Given the description of an element on the screen output the (x, y) to click on. 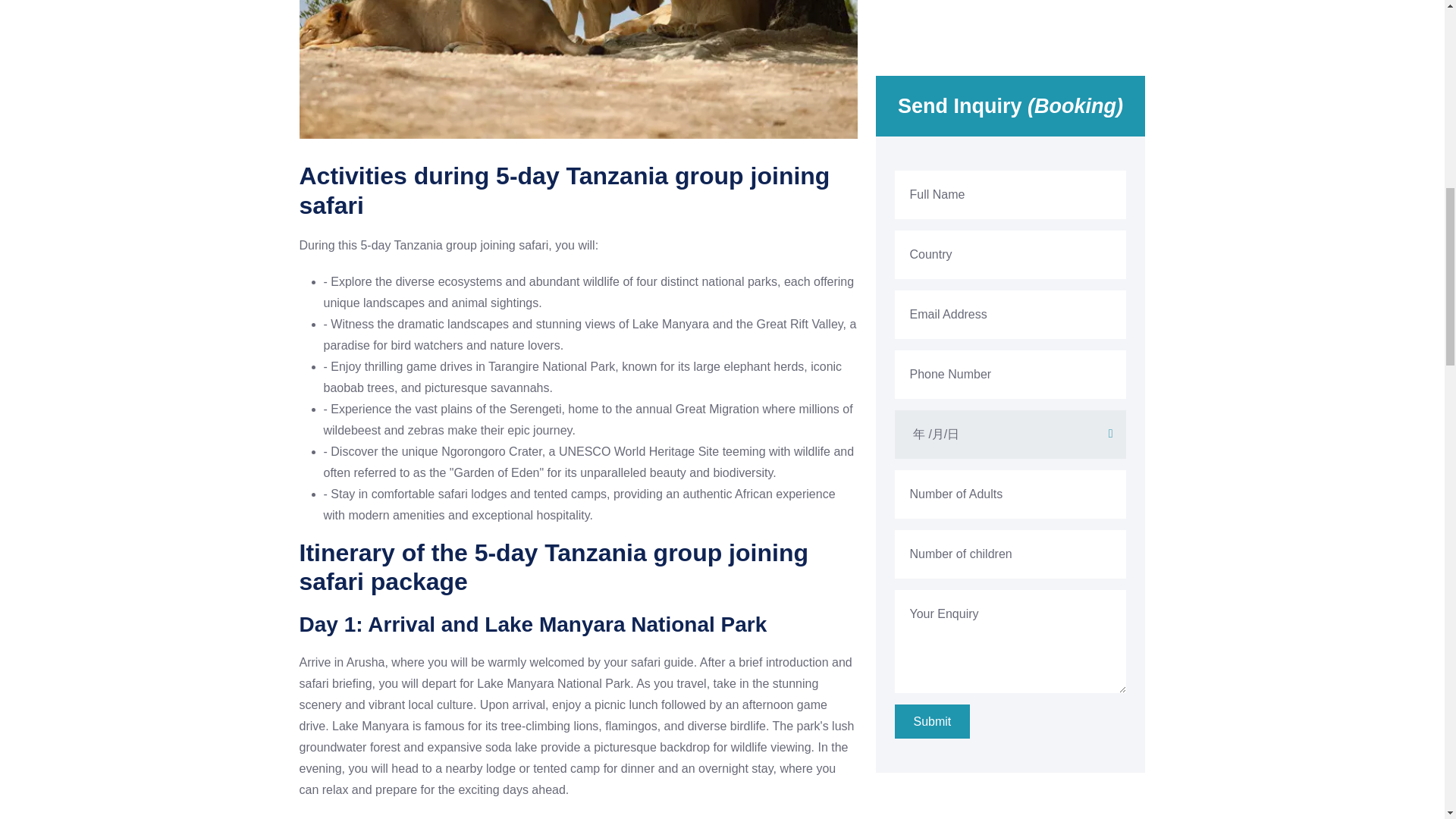
Submit (933, 270)
